Given the description of an element on the screen output the (x, y) to click on. 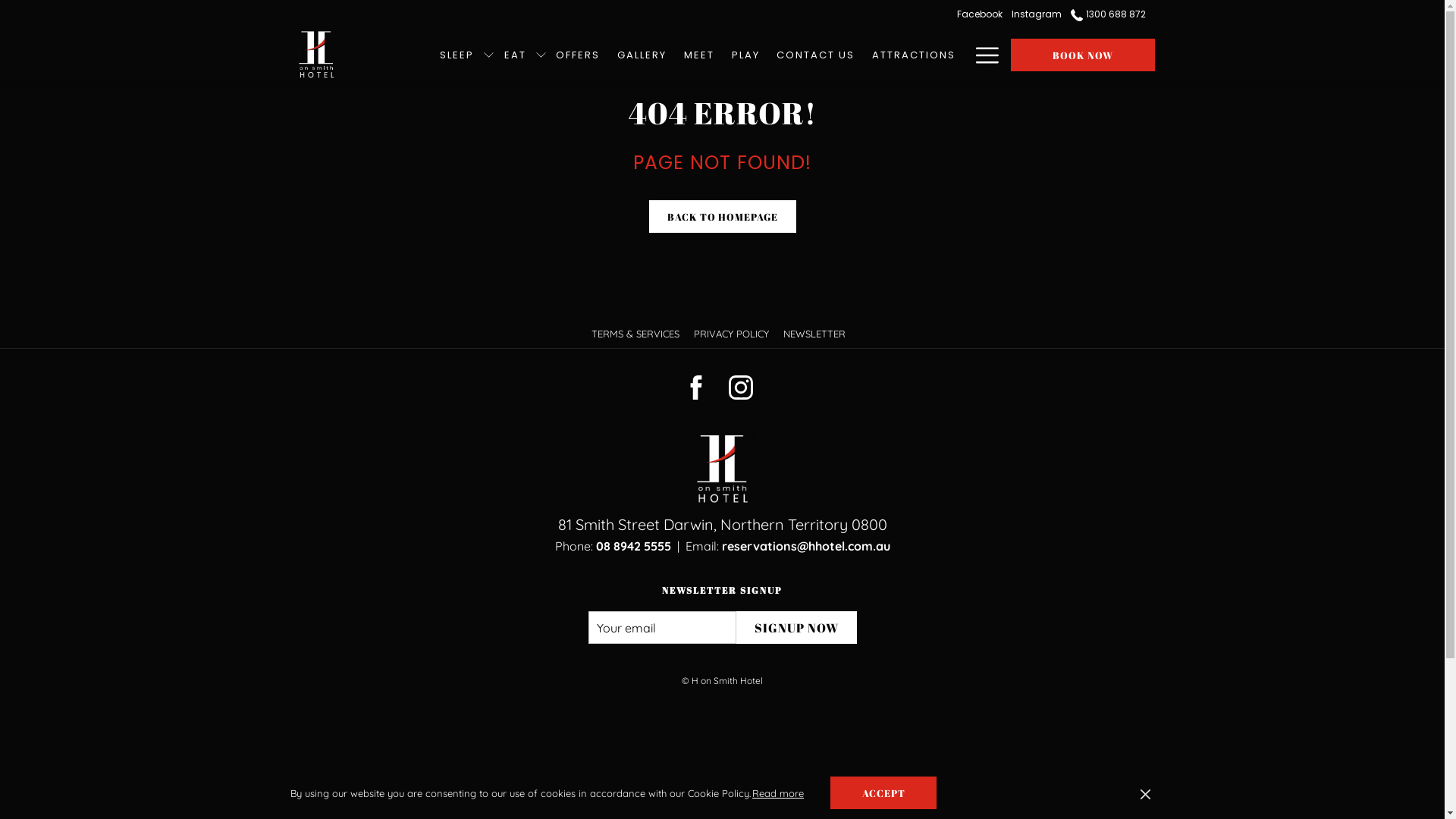
TERMS & SERVICES Element type: text (637, 333)
ATTRACTIONS Element type: text (913, 54)
SIGNUP NOW Element type: text (795, 627)
PLAY Element type: text (751, 54)
OFFERS Element type: text (584, 54)
More link
Menu Element type: text (981, 54)
CONTACT US Element type: text (815, 54)
Back to the homepage Element type: hover (315, 54)
Instagram Element type: text (1042, 13)
MEET Element type: text (704, 54)
reservations@hhotel.com.au Element type: text (805, 545)
BACK TO HOMEPAGE Element type: text (722, 216)
GALLERY Element type: text (647, 54)
NEWSLETTER Element type: text (816, 333)
08 8942 5555 Element type: text (633, 545)
Facebook Element type: text (985, 13)
PRIVACY POLICY Element type: text (732, 333)
BOOK NOW Element type: text (1082, 54)
1300 688 872 Element type: text (1109, 13)
Read more Element type: text (783, 792)
EAT Element type: text (520, 54)
ACCEPT Element type: text (889, 792)
SLEEP Element type: text (462, 54)
